Given the description of an element on the screen output the (x, y) to click on. 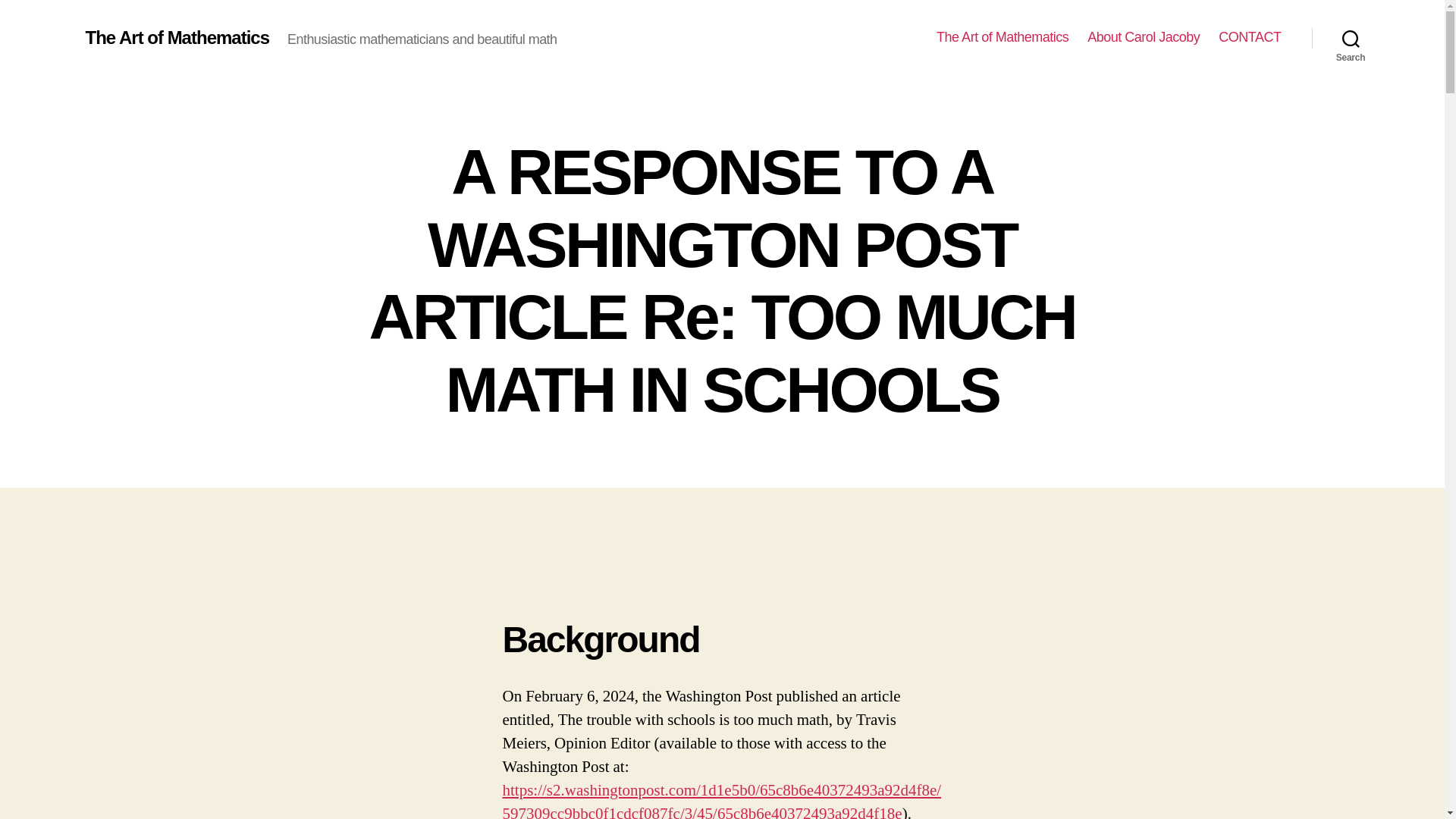
The Art of Mathematics (176, 37)
The Art of Mathematics (1002, 37)
Search (1350, 37)
CONTACT (1249, 37)
About Carol Jacoby (1143, 37)
